Given the description of an element on the screen output the (x, y) to click on. 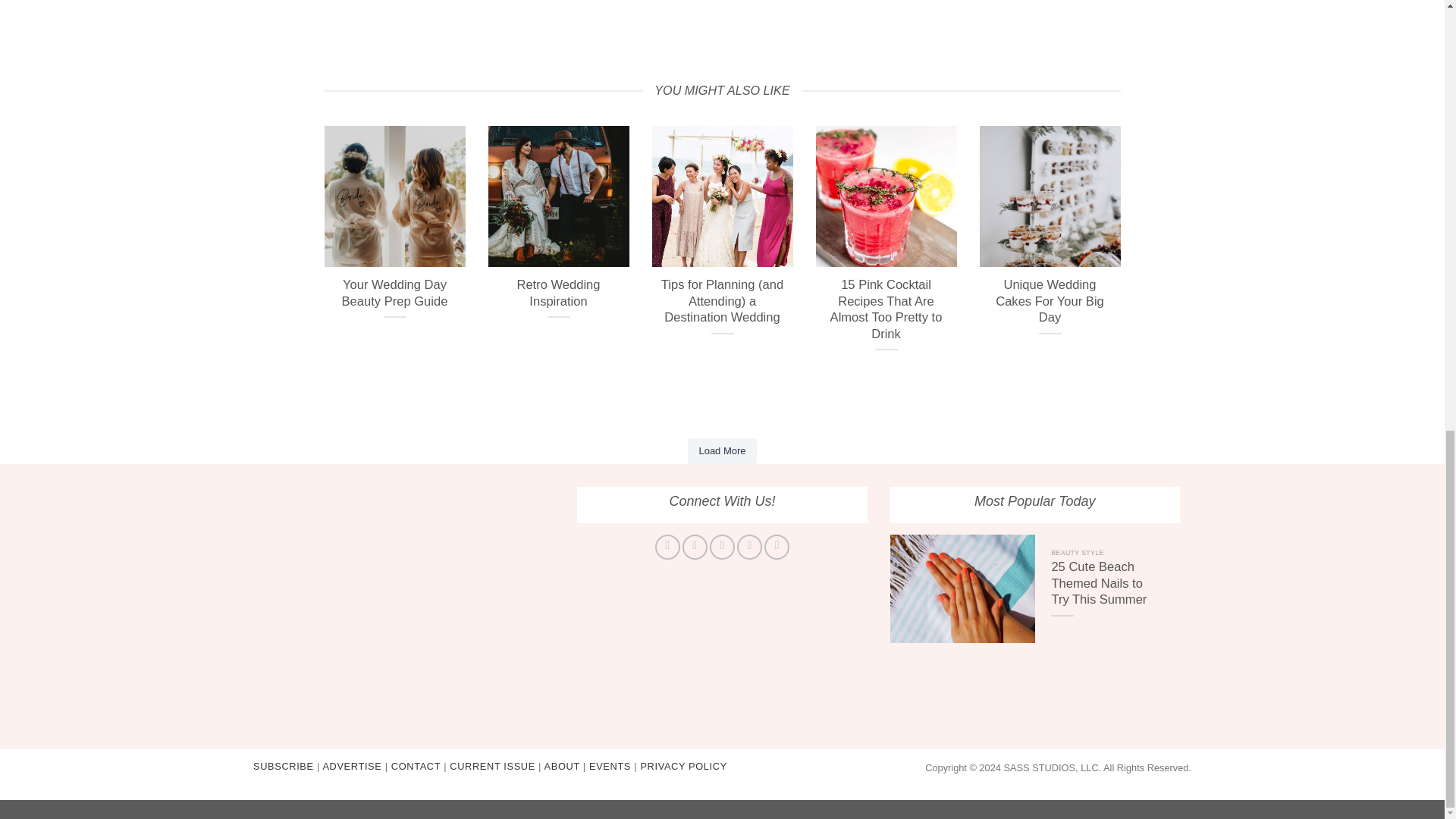
Form 0 (409, 594)
Follow on LinkedIn (776, 546)
Send us an email (722, 546)
Follow on Facebook (667, 546)
Follow on Instagram (694, 546)
Follow on Pinterest (748, 546)
